Given the description of an element on the screen output the (x, y) to click on. 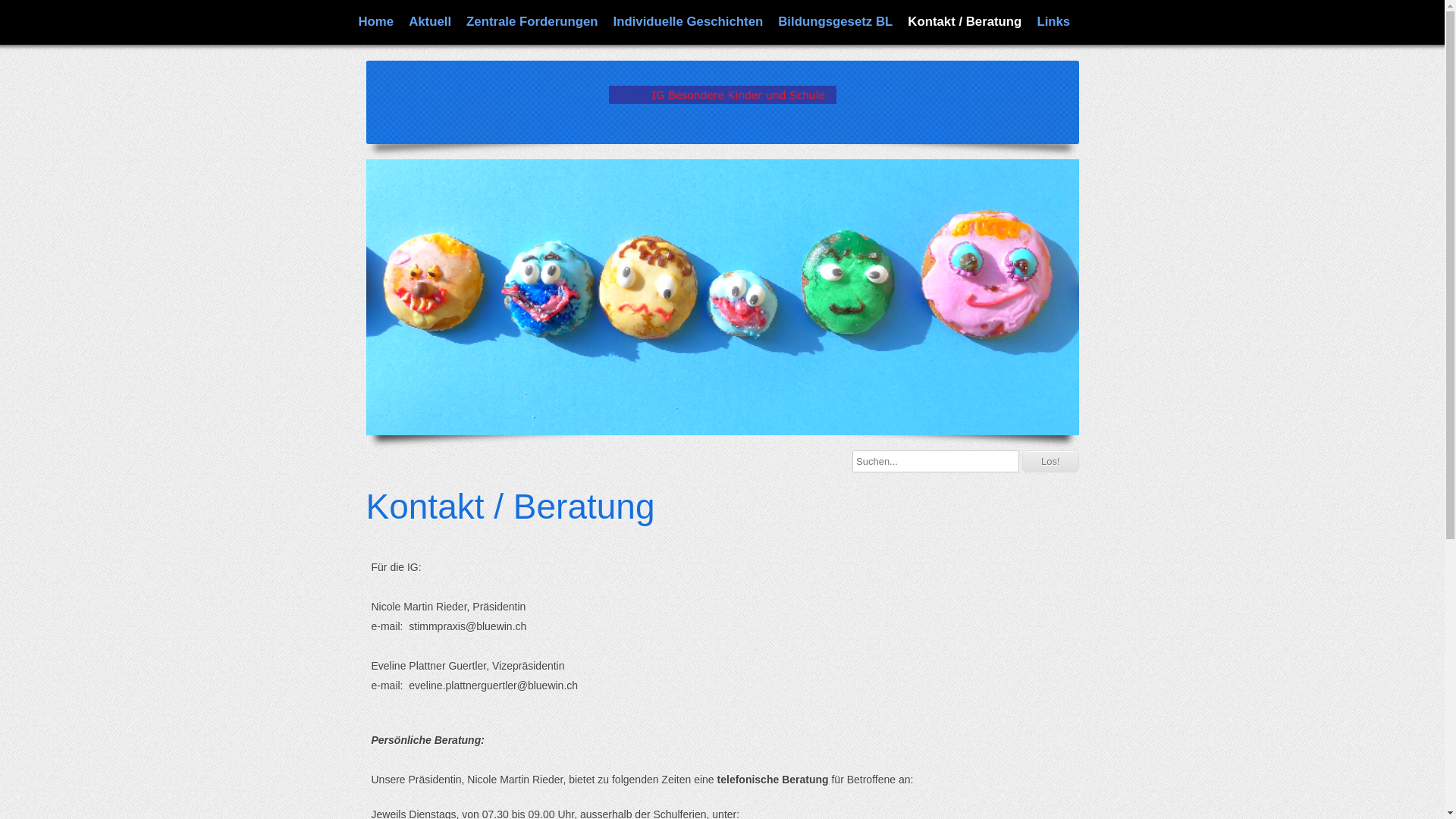
Bildungsgesetz BL Element type: text (835, 21)
Zentrale Forderungen Element type: text (531, 21)
Aktuell Element type: text (429, 21)
Kontakt / Beratung Element type: text (964, 21)
Links Element type: text (1053, 21)
Los! Element type: text (1050, 461)
Individuelle Geschichten Element type: text (688, 21)
Home Element type: text (375, 21)
